Given the description of an element on the screen output the (x, y) to click on. 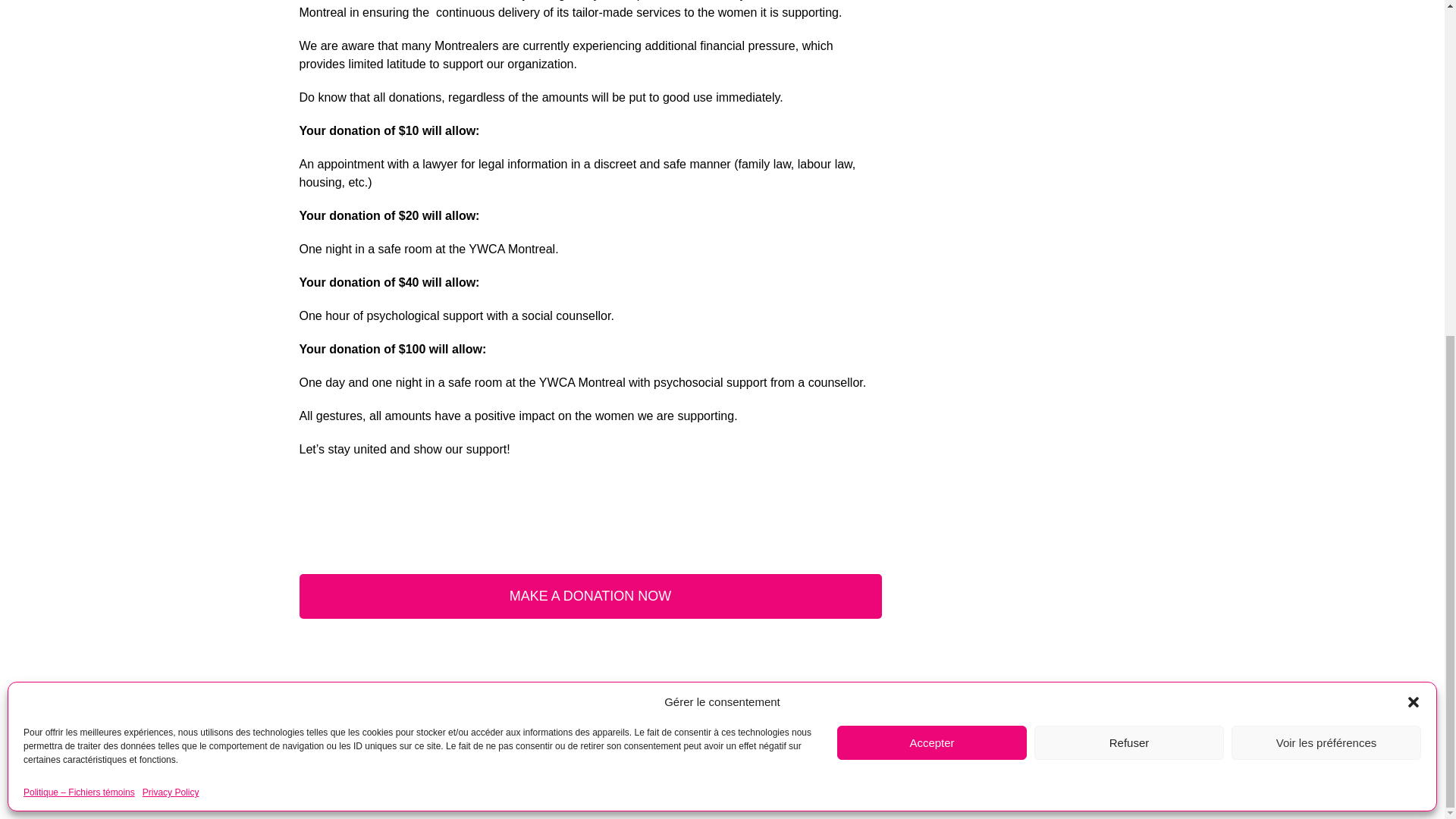
Accepter (931, 179)
Refuser (1128, 179)
Privacy Policy (170, 228)
